Given the description of an element on the screen output the (x, y) to click on. 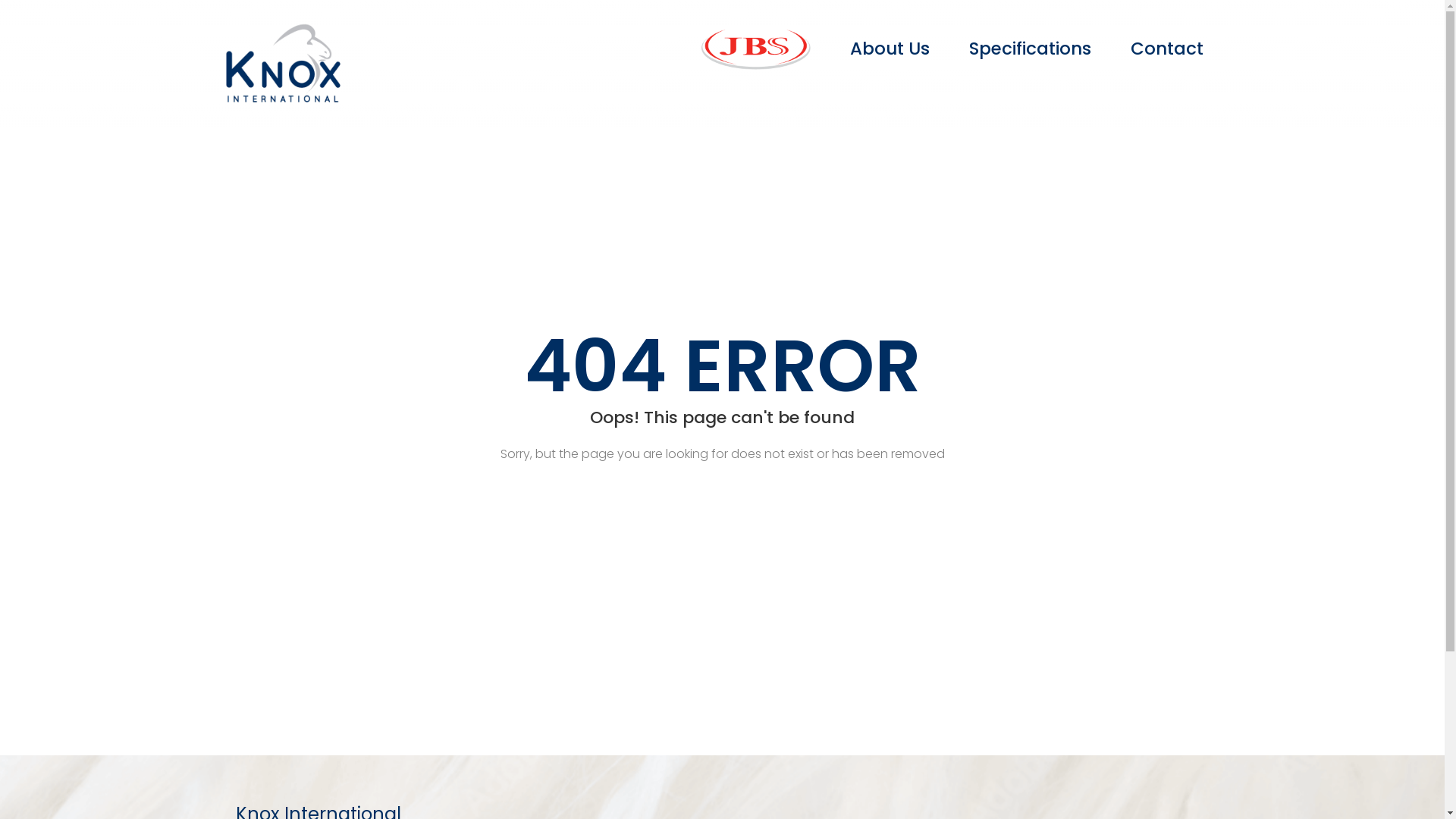
Specifications Element type: text (1029, 48)
About Us Element type: text (888, 48)
Contact Element type: text (1166, 48)
